Given the description of an element on the screen output the (x, y) to click on. 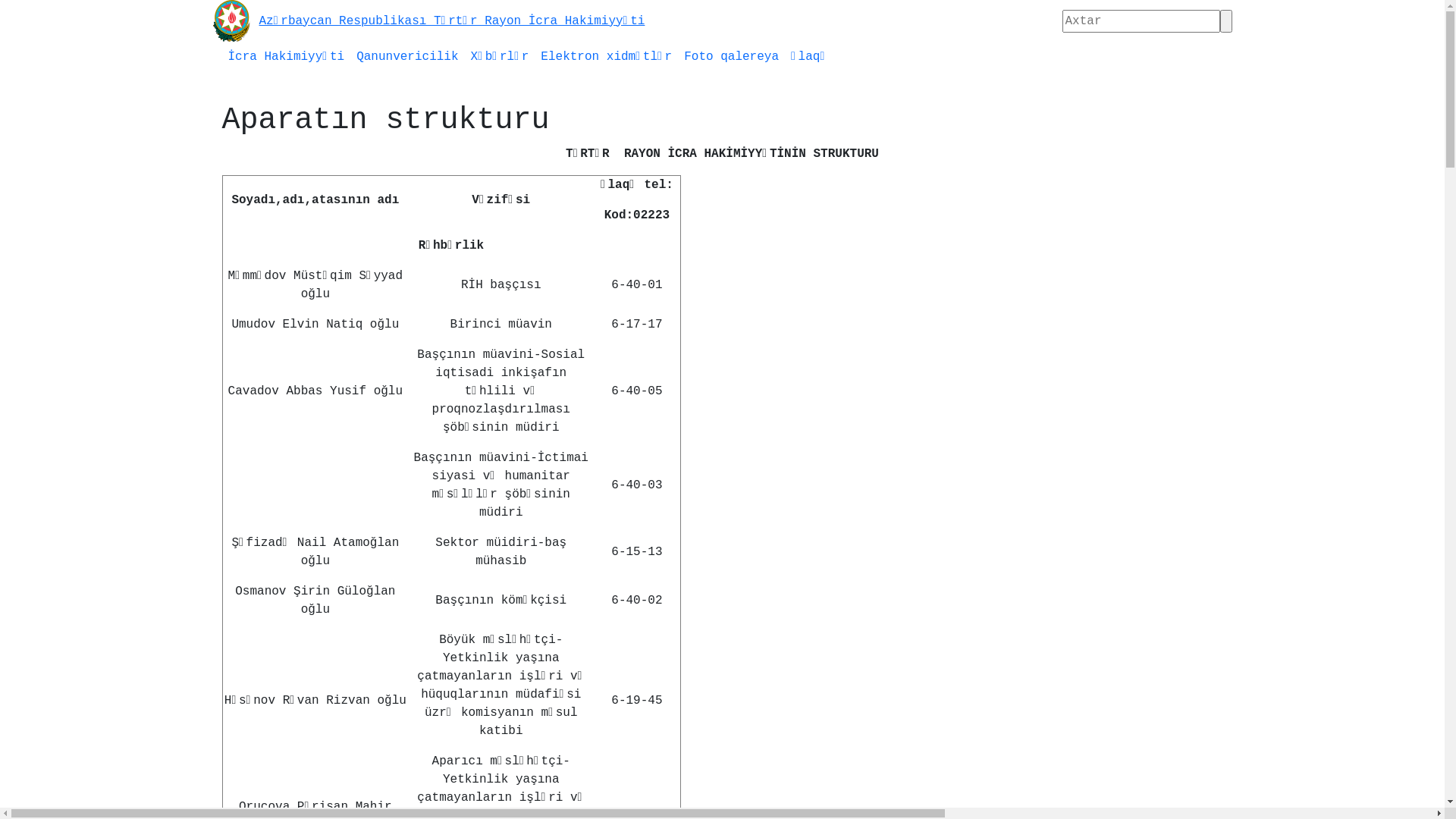
Qanunvericilik Element type: text (407, 56)
Foto qalereya Element type: text (730, 56)
